Given the description of an element on the screen output the (x, y) to click on. 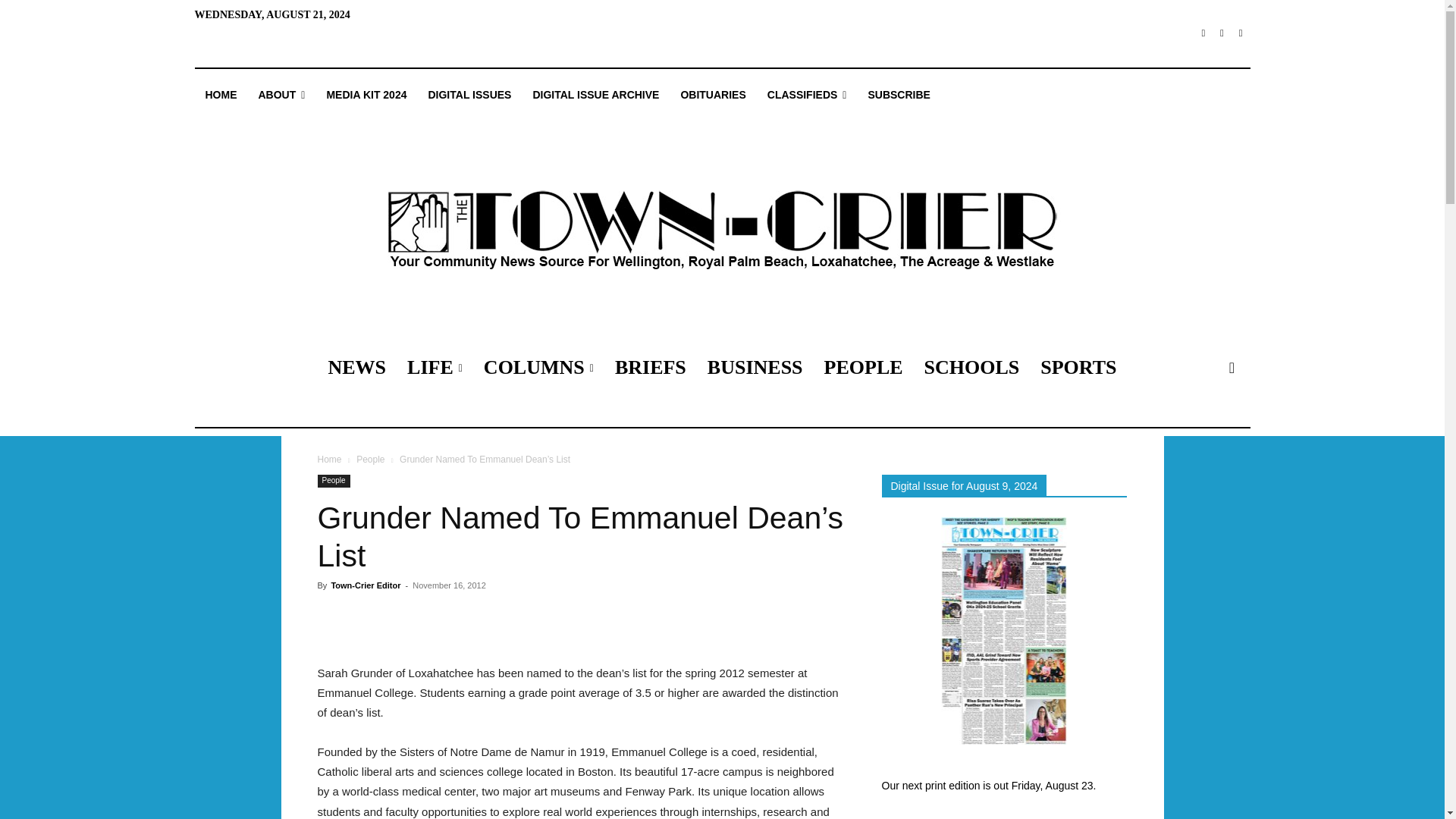
Facebook (1202, 33)
Town-Crier Newspaper (721, 230)
HOME (220, 94)
Town-Crier Newspaper (721, 230)
CLASSIFIEDS (807, 94)
OBITUARIES (712, 94)
View all posts in People (370, 459)
Twitter (1240, 33)
MEDIA KIT 2024 (365, 94)
DIGITAL ISSUES (468, 94)
